Given the description of an element on the screen output the (x, y) to click on. 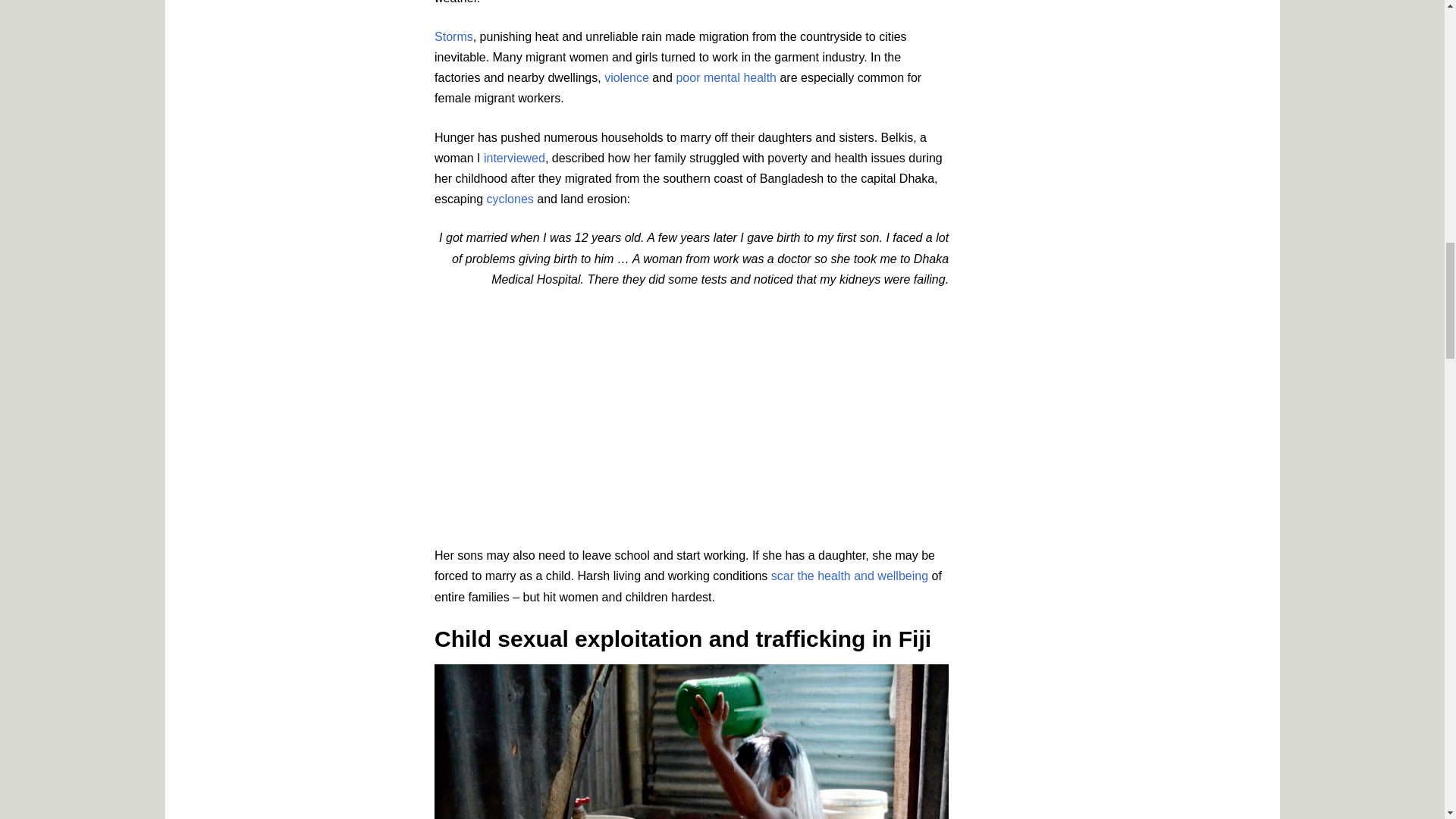
scar the health and wellbeing (849, 575)
Storms (453, 36)
poor mental health (725, 77)
cyclones (510, 198)
violence (626, 77)
interviewed (513, 157)
